Given the description of an element on the screen output the (x, y) to click on. 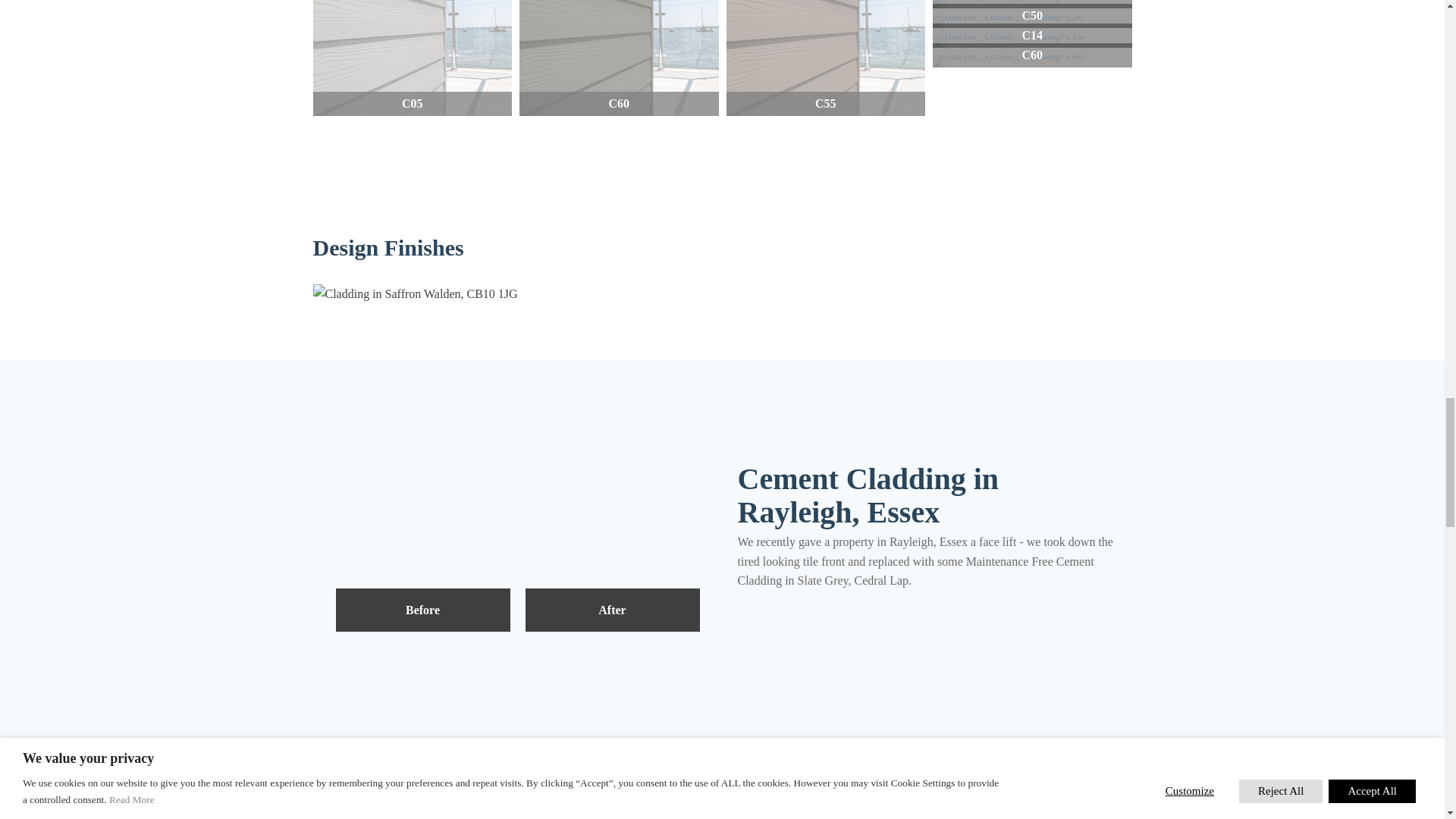
C05 (412, 58)
C55 (826, 58)
C14 (1032, 41)
C54 (1032, 4)
C50 (1032, 21)
C60 (1032, 61)
C60 (619, 58)
